Given the description of an element on the screen output the (x, y) to click on. 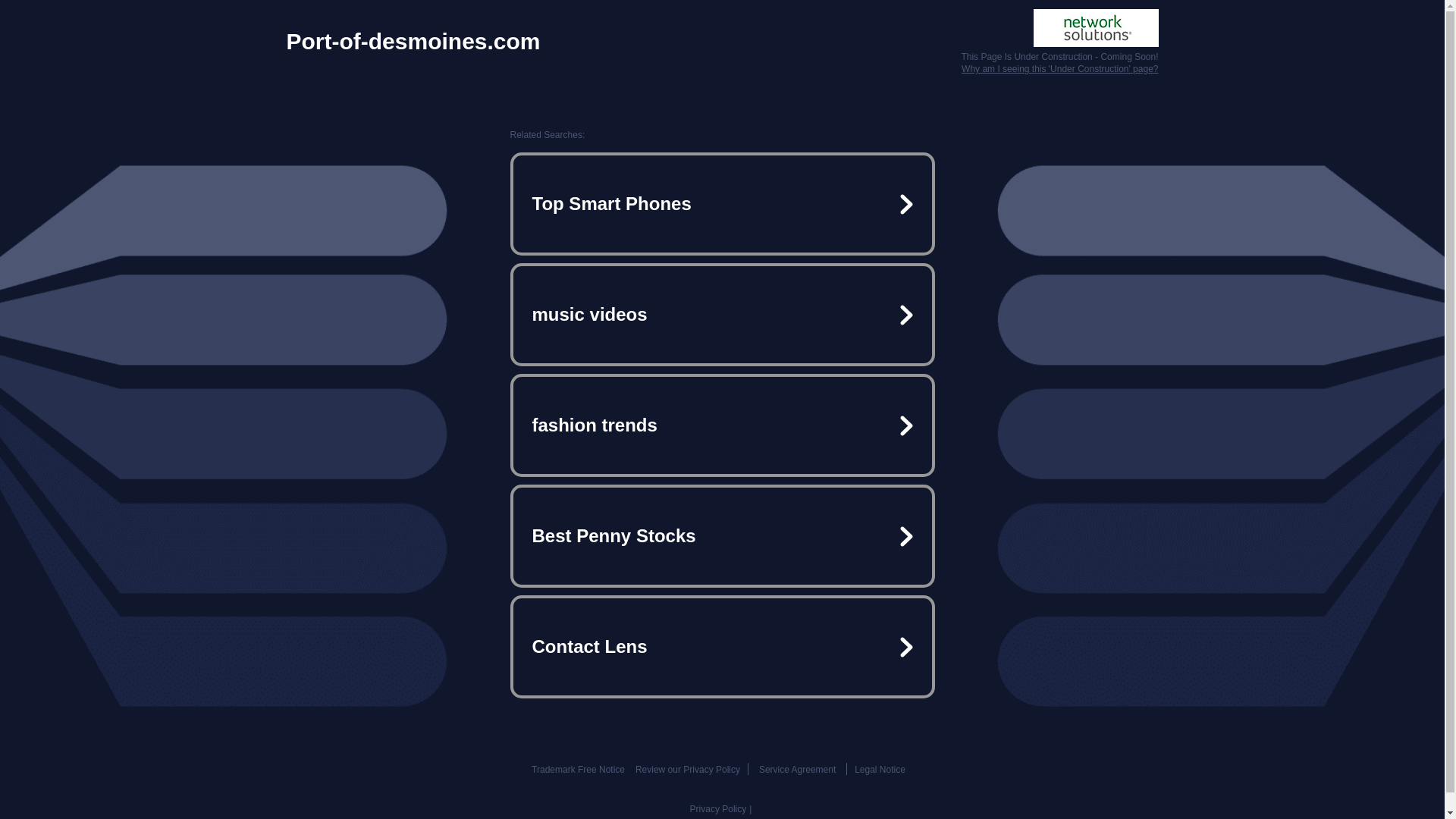
Review our Privacy Policy (686, 769)
Best Penny Stocks (721, 535)
fashion trends (721, 425)
Top Smart Phones (721, 203)
music videos (721, 314)
Contact Lens (721, 646)
Top Smart Phones (721, 203)
Legal Notice (879, 769)
music videos (721, 314)
fashion trends (721, 425)
Best Penny Stocks (721, 535)
Service Agreement (796, 769)
Privacy Policy (718, 808)
Why am I seeing this 'Under Construction' page? (1058, 68)
Port-of-desmoines.com (413, 41)
